Given the description of an element on the screen output the (x, y) to click on. 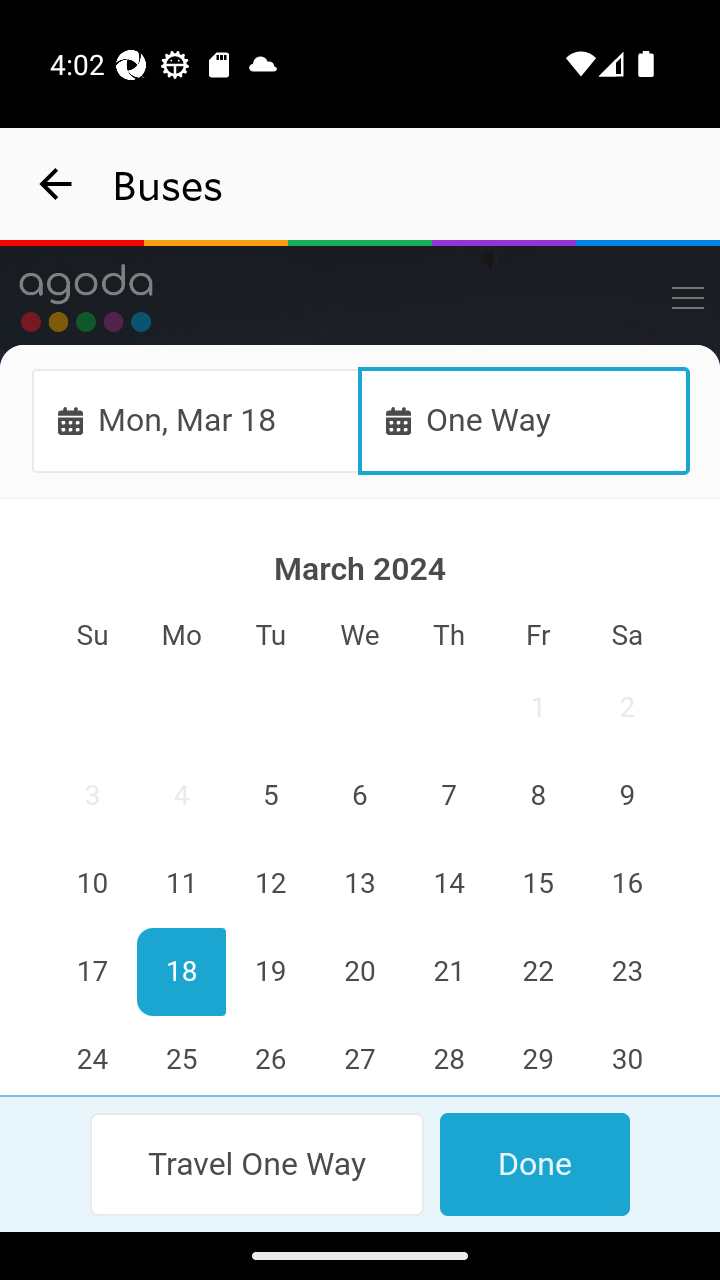
navigation_button (56, 184)
Mon, Mar 18 (195, 420)
One Way (524, 420)
1 (537, 708)
2 (626, 708)
3 (93, 797)
4 (182, 797)
5 (271, 797)
6 (359, 797)
7 (448, 797)
8 (537, 797)
9 (626, 797)
10 (93, 884)
11 (182, 884)
12 (271, 884)
13 (359, 884)
14 (448, 884)
15 (537, 884)
16 (626, 884)
17 (93, 972)
18 (182, 972)
19 (271, 972)
20 (359, 972)
21 (448, 972)
22 (537, 972)
23 (626, 972)
24 (93, 1055)
25 (182, 1055)
26 (271, 1055)
27 (359, 1055)
28 (448, 1055)
29 (537, 1055)
30 (626, 1055)
Travel One Way (258, 1164)
Done (534, 1164)
